Given the description of an element on the screen output the (x, y) to click on. 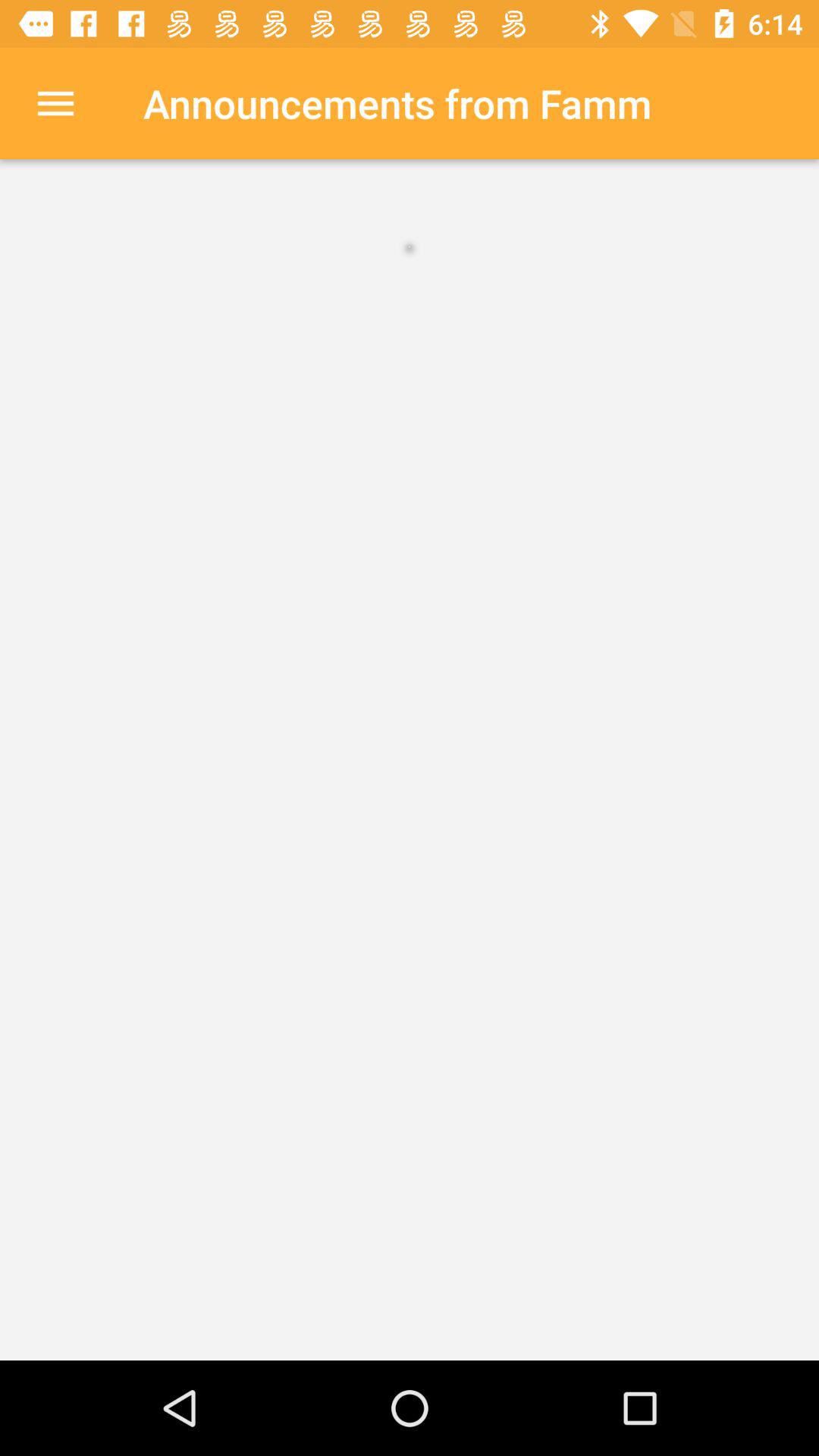
click icon to the left of the announcements from famm icon (55, 103)
